Given the description of an element on the screen output the (x, y) to click on. 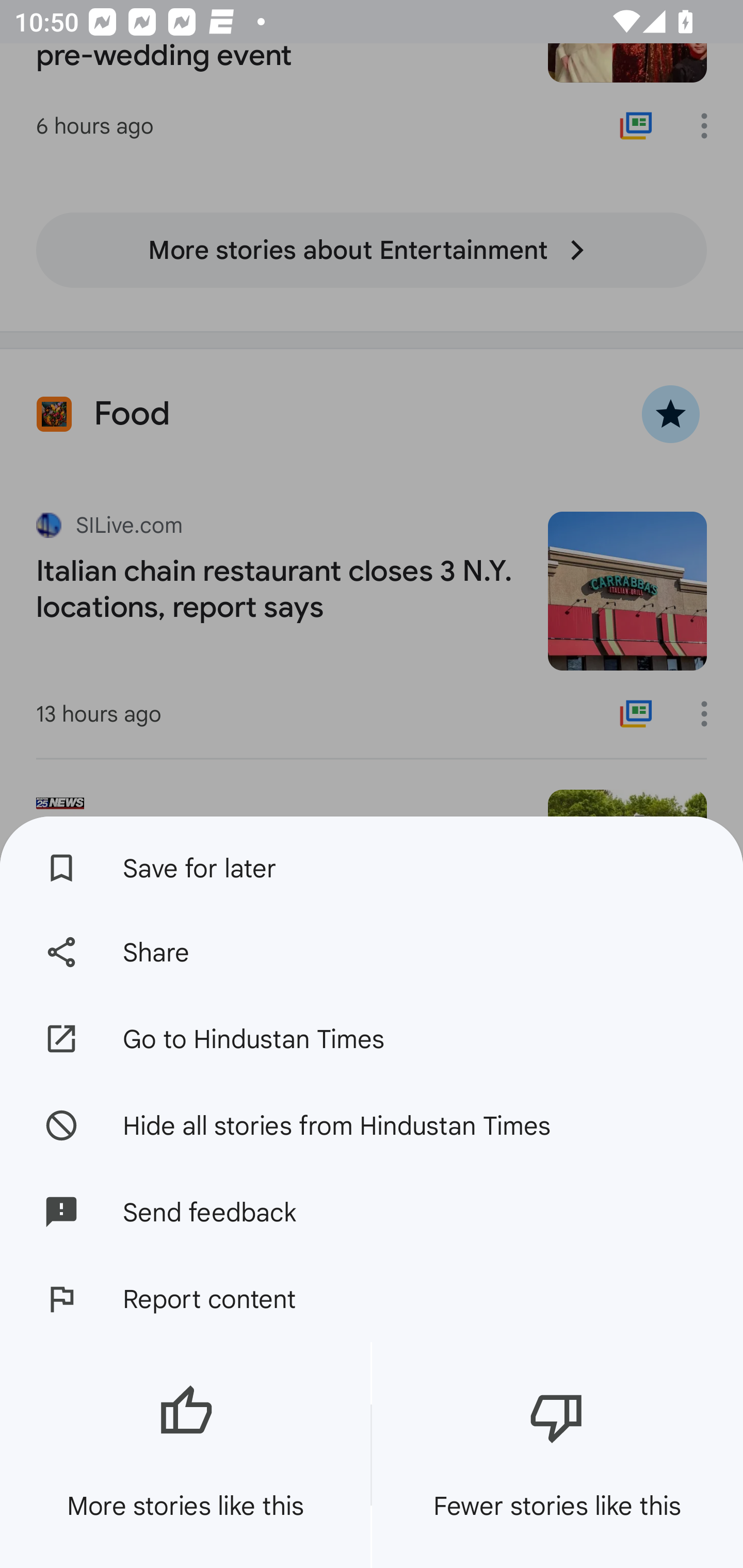
Save for later (371, 862)
Share (371, 952)
Go to Hindustan Times (371, 1038)
Hide all stories from Hindustan Times (371, 1124)
Send feedback (371, 1211)
Report content (371, 1298)
More stories like this (185, 1455)
Fewer stories like this (557, 1455)
